Given the description of an element on the screen output the (x, y) to click on. 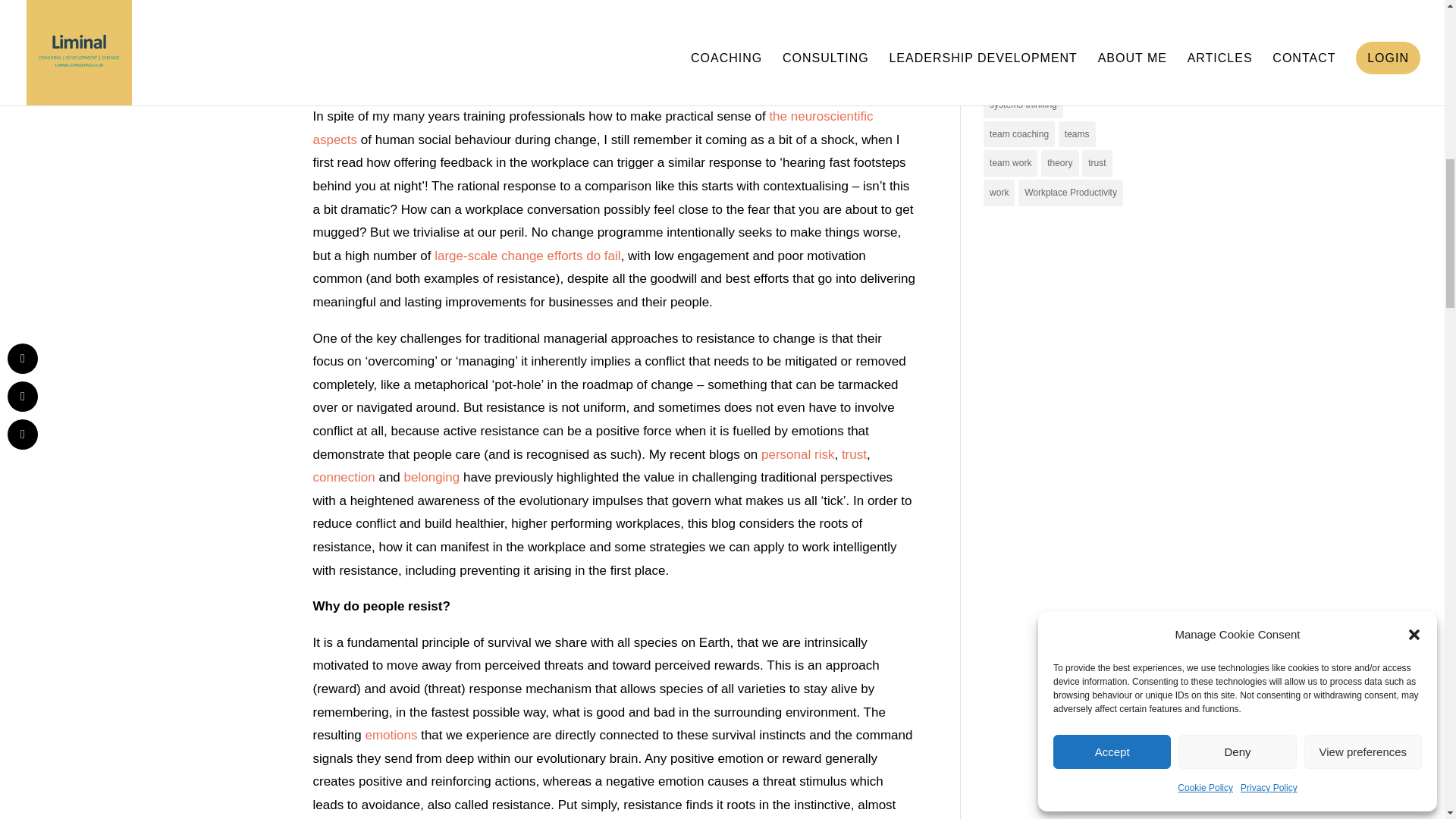
trust (853, 454)
belonging (432, 477)
personal risk (797, 454)
connection (343, 477)
the neuroscientific aspects (592, 127)
emotions (390, 735)
large-scale change efforts do fail (526, 255)
